Given the description of an element on the screen output the (x, y) to click on. 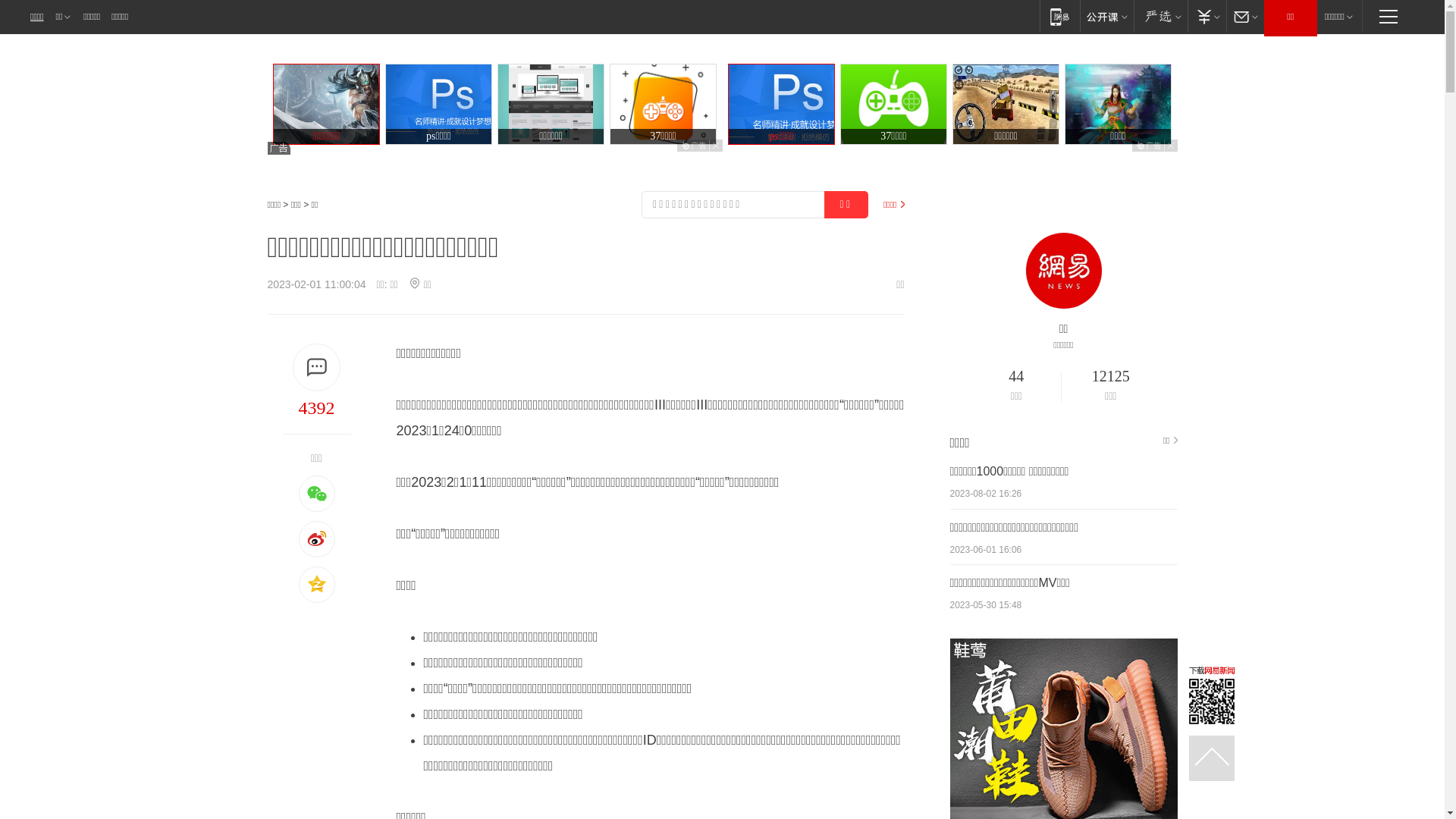
4392 Element type: text (315, 407)
12125 Element type: text (1110, 376)
44 Element type: text (1015, 376)
